Given the description of an element on the screen output the (x, y) to click on. 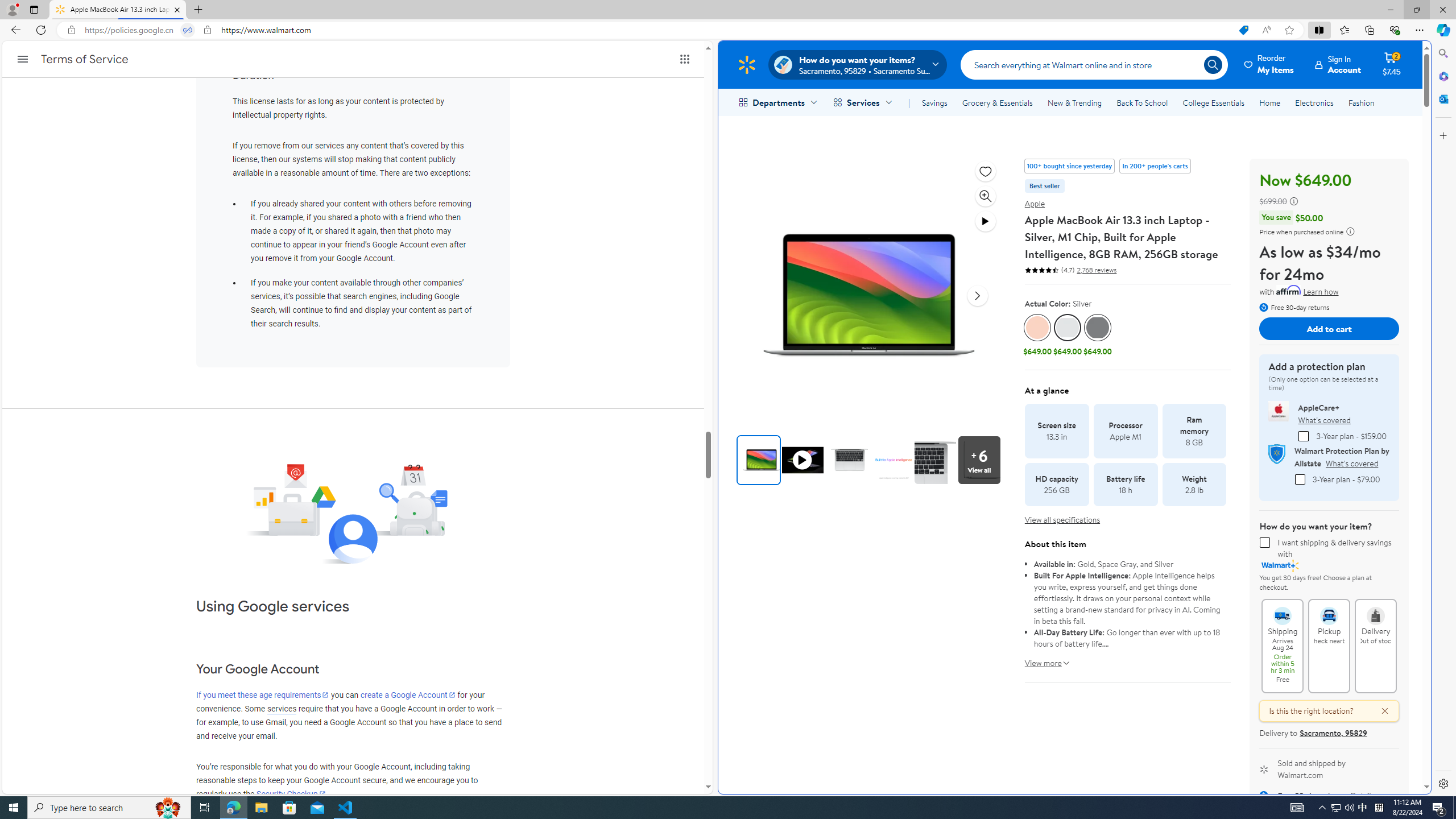
Gold, $649.00 (1037, 335)
Back To School (1141, 102)
learn more about strikethrough prices (1294, 201)
Savings (933, 102)
Apple (1035, 203)
Close question (1379, 711)
What's covered of AppleCare+ (1324, 420)
selected, Silver, $649.00 (1067, 335)
Space Gray, $649.00 (1096, 335)
Pickup Check nearby (1328, 610)
Fashion (1361, 102)
Reorder My Items (1269, 64)
Walmart Homepage (746, 64)
